Given the description of an element on the screen output the (x, y) to click on. 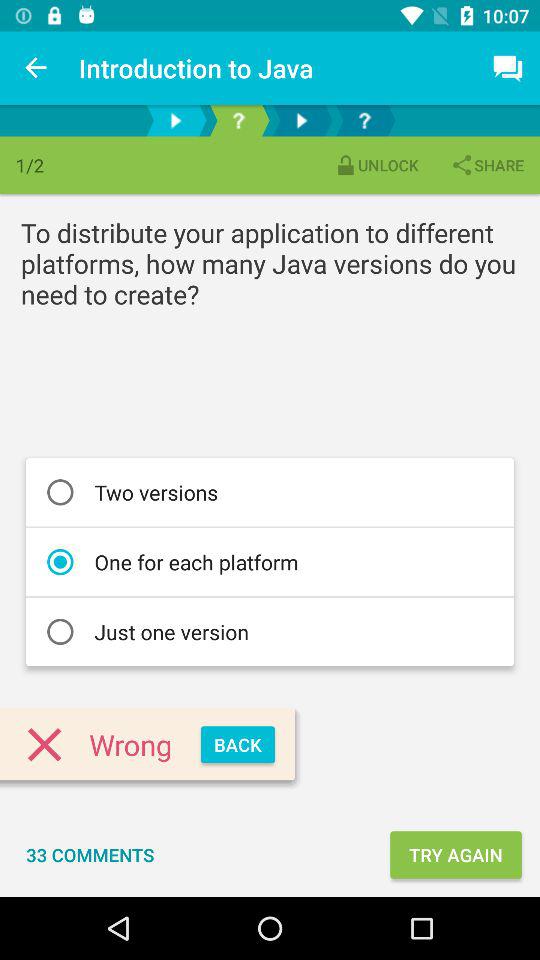
open step for the quest (364, 120)
